Given the description of an element on the screen output the (x, y) to click on. 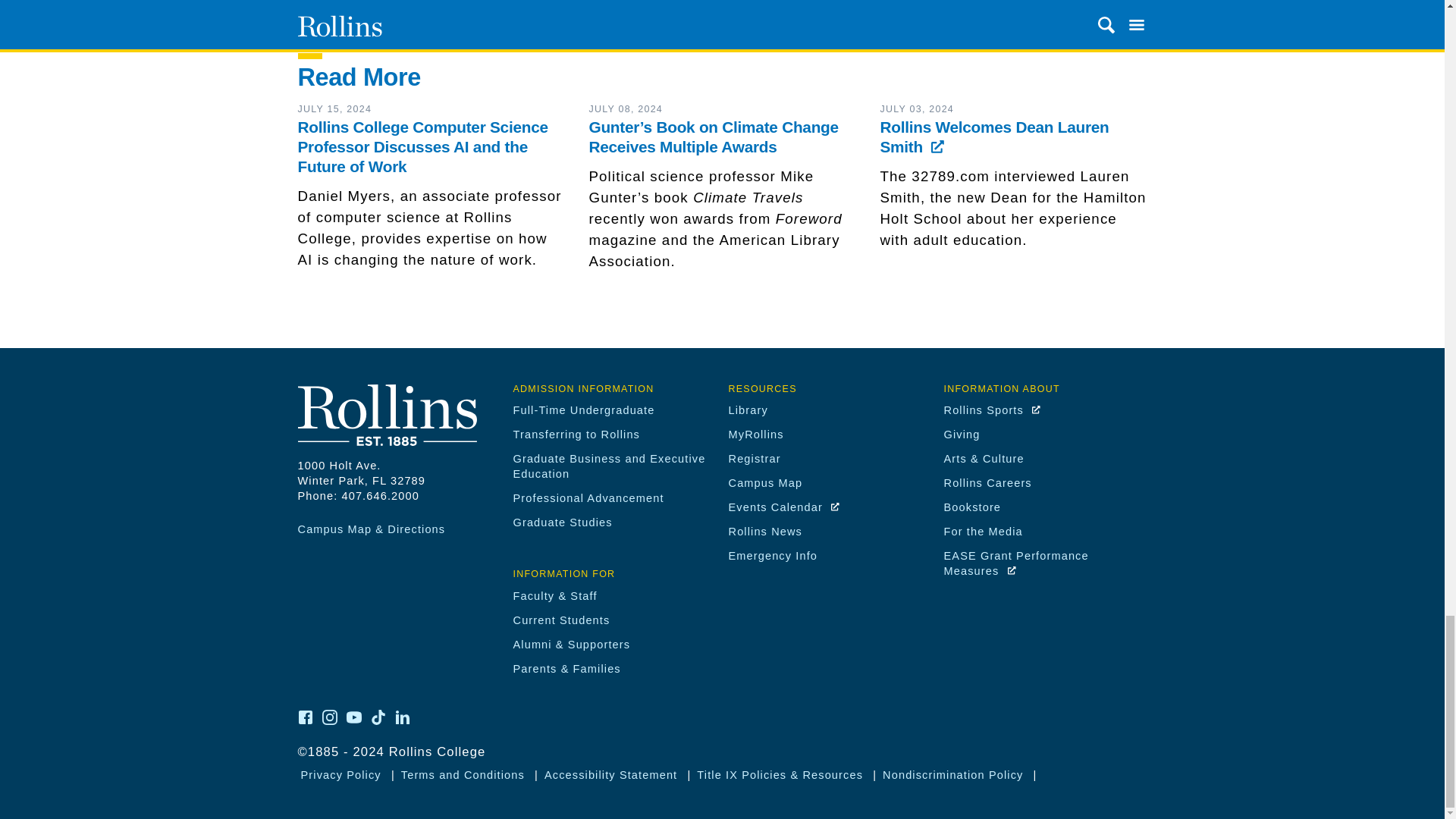
Rollins Welcomes Dean Lauren Smith (993, 136)
Full-Time Undergraduate (582, 410)
Emergency Info (772, 555)
Professional Advancement (587, 498)
MyRollins (755, 434)
Bookstore (972, 507)
Graduate Studies (561, 522)
Transferring to Rollins (576, 434)
Graduate Business and Executive Education (608, 465)
Library (747, 410)
Rollins Sports (992, 410)
Rollins News (765, 531)
Registrar (754, 458)
Rollins Careers (986, 482)
